Given the description of an element on the screen output the (x, y) to click on. 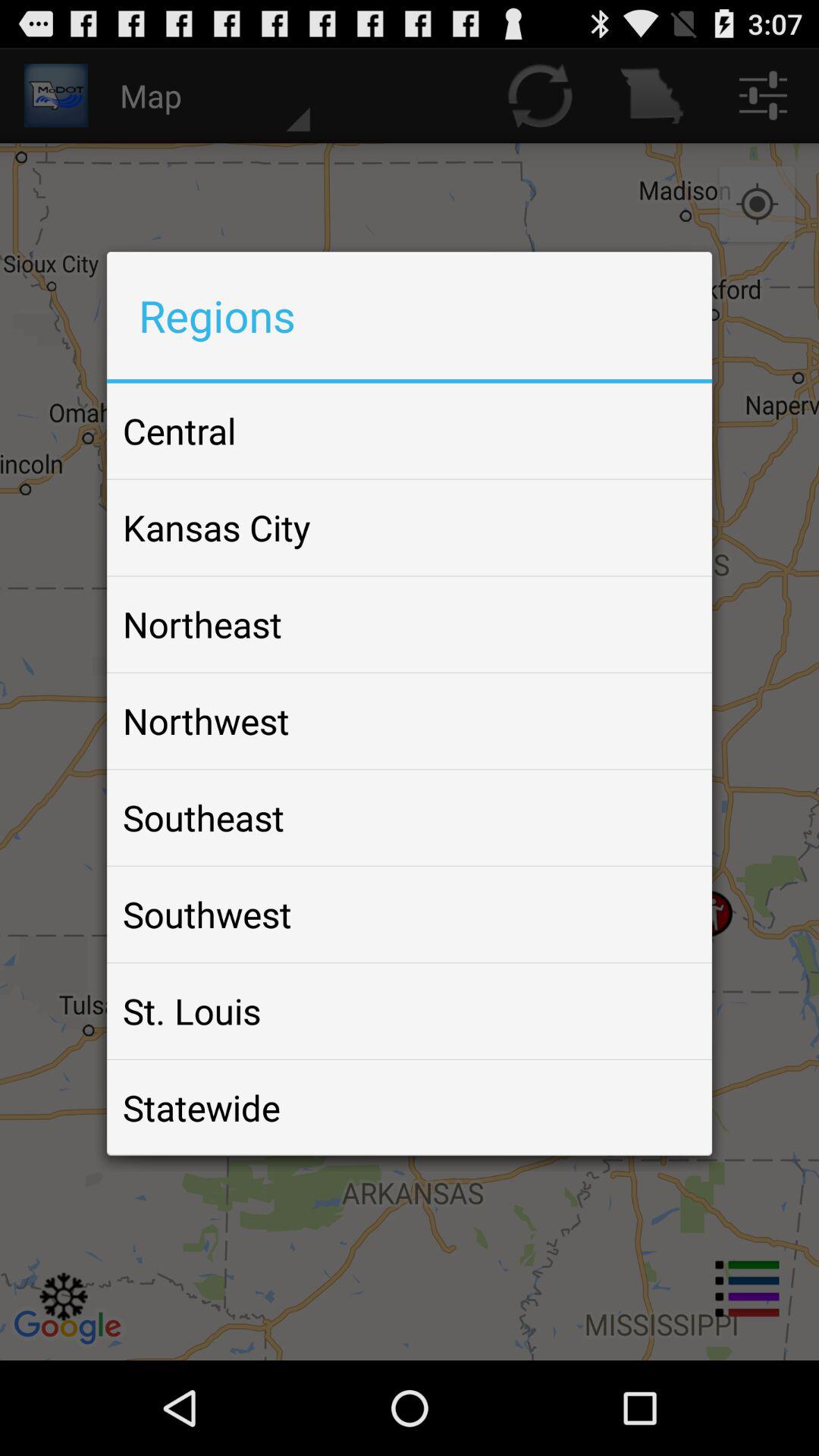
choose the app below the northwest app (203, 817)
